Given the description of an element on the screen output the (x, y) to click on. 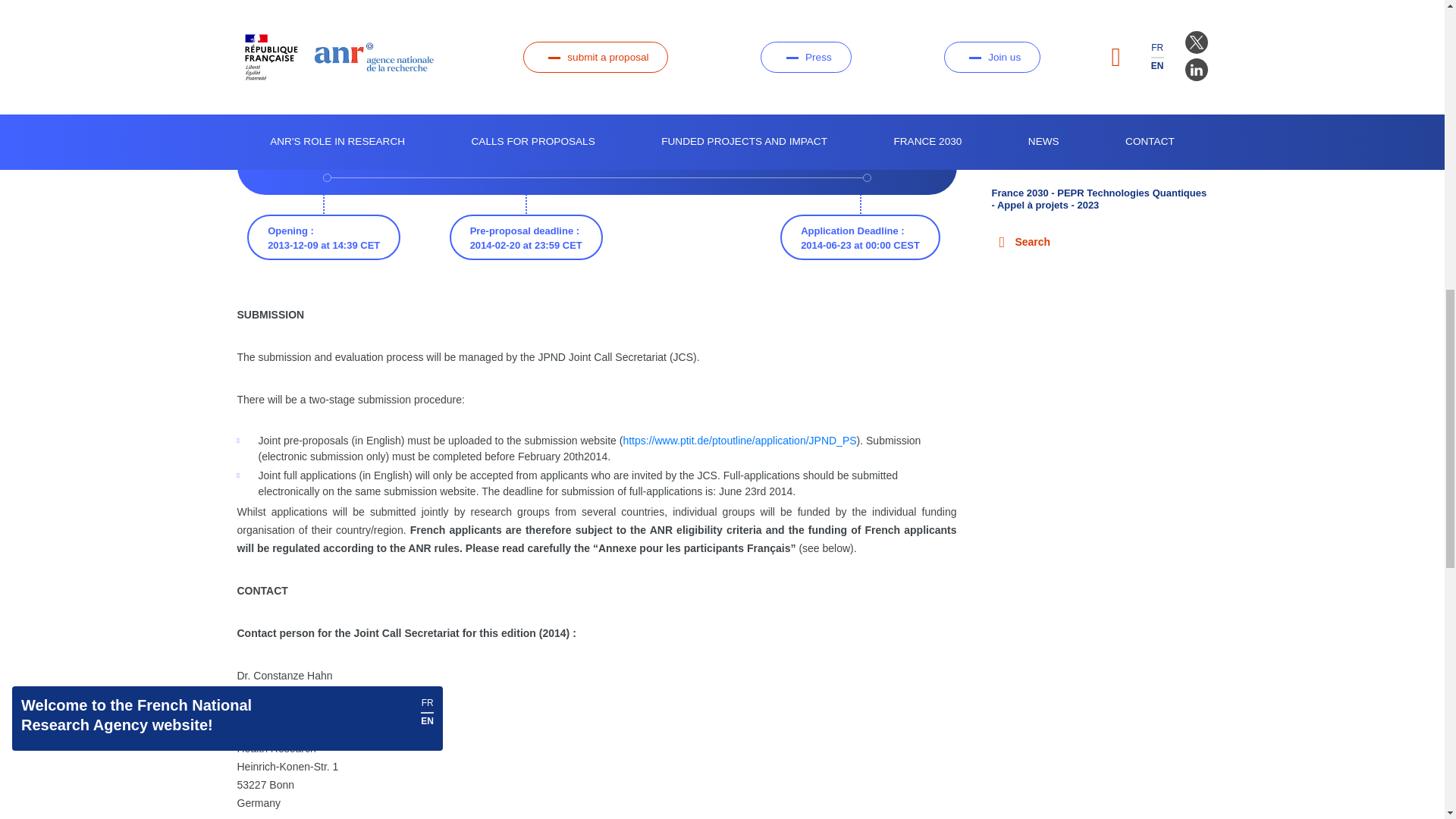
Lien vers un site externe (739, 440)
